Given the description of an element on the screen output the (x, y) to click on. 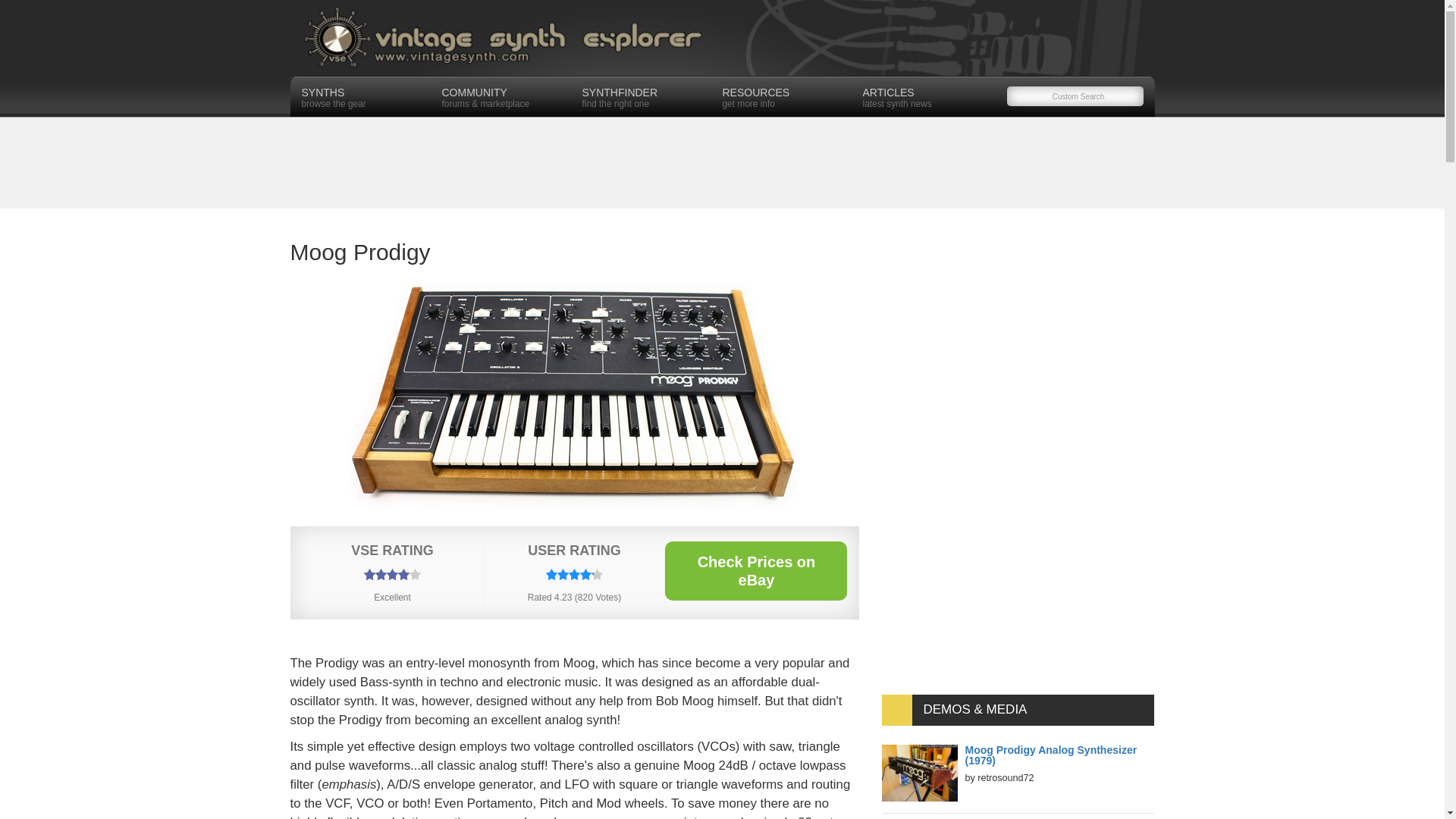
Search (29, 12)
Skip to main content (644, 96)
Check Prices on eBay (784, 96)
